Given the description of an element on the screen output the (x, y) to click on. 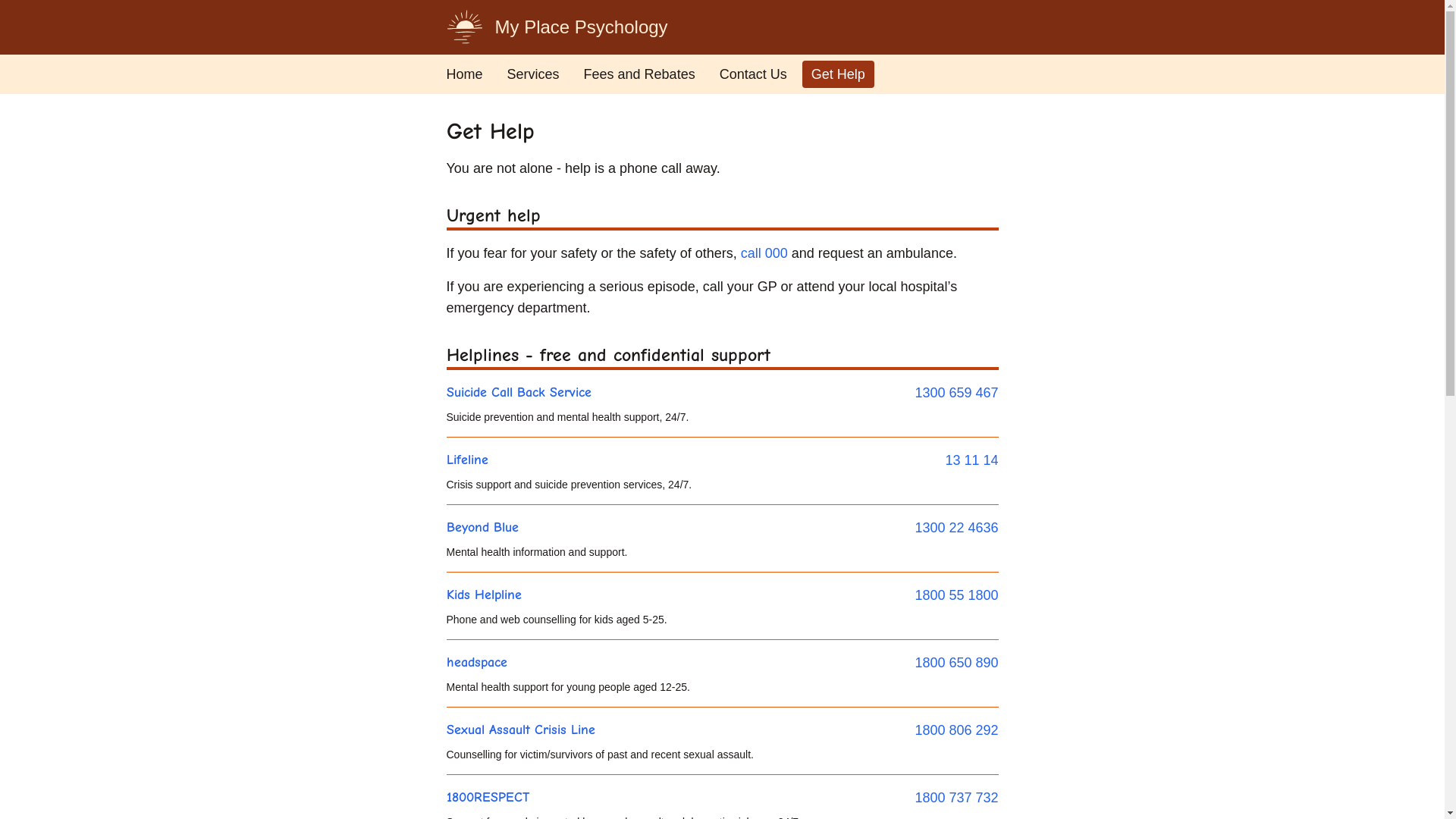
1300 659 467 Element type: text (955, 392)
1800RESPECT Element type: text (486, 797)
Get Help Element type: text (838, 74)
Kids Helpline Element type: text (482, 594)
Urgent help Element type: text (721, 215)
1800 737 732 Element type: text (955, 797)
1300 22 4636 Element type: text (955, 527)
13 11 14 Element type: text (970, 459)
Contact Us Element type: text (753, 74)
Fees and Rebates Element type: text (639, 74)
Services Element type: text (533, 74)
Suicide Call Back Service Element type: text (517, 392)
1800 806 292 Element type: text (955, 729)
1800 650 890 Element type: text (955, 662)
Home Element type: text (463, 74)
Lifeline Element type: text (466, 459)
1800 55 1800 Element type: text (955, 594)
My Place Psychology Element type: text (556, 27)
Skip to main content Element type: text (73, 27)
call 000 Element type: text (763, 252)
Helplines - free and confidential support Element type: text (721, 354)
Sexual Assault Crisis Line Element type: text (519, 729)
Beyond Blue Element type: text (481, 527)
headspace Element type: text (475, 662)
